Given the description of an element on the screen output the (x, y) to click on. 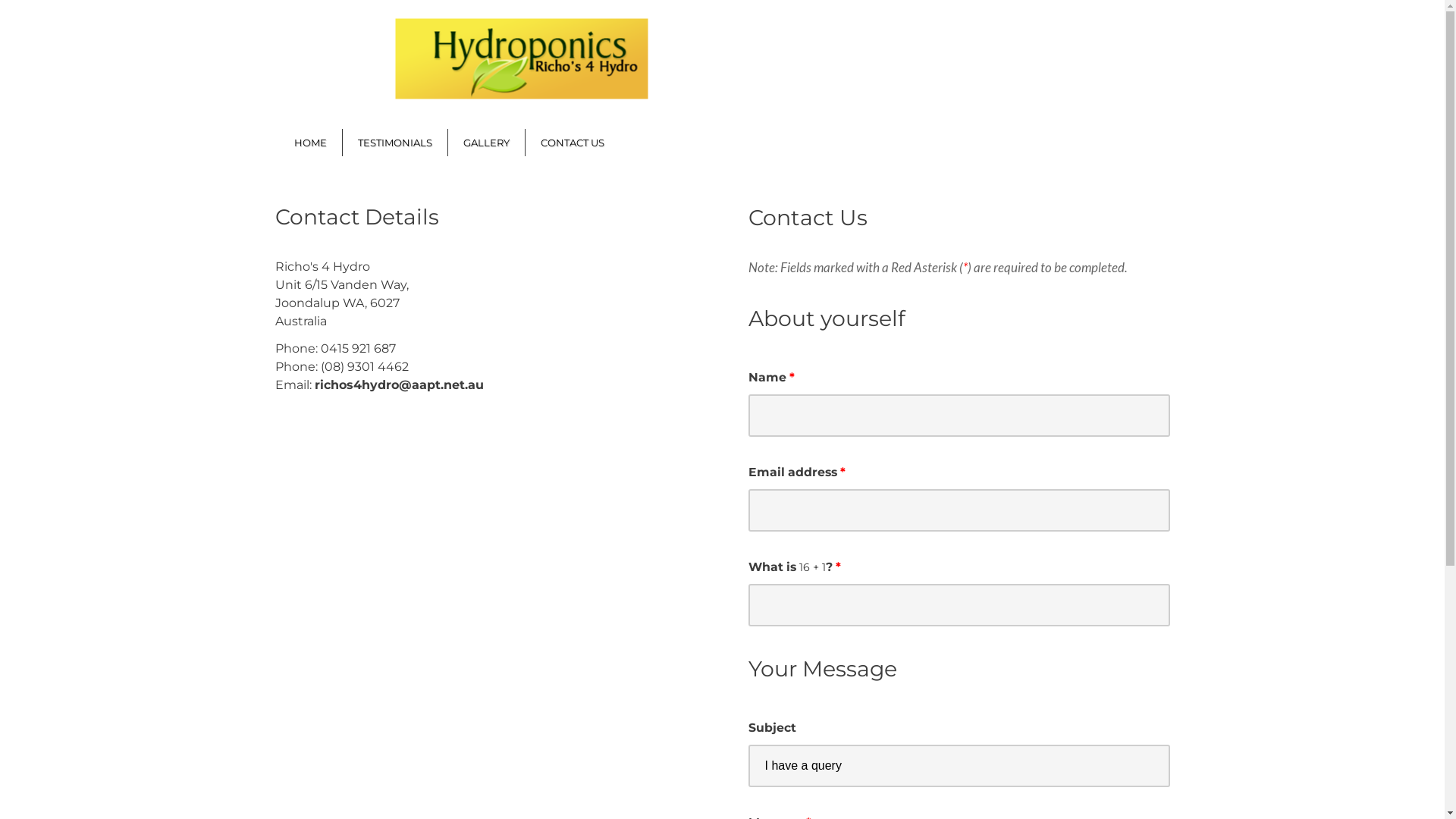
TESTIMONIALS Element type: text (394, 142)
HOME Element type: text (310, 142)
Embedded Google map Element type: hover (425, 563)
CONTACT US Element type: text (571, 142)
richos4hydro@aapt.net.au Element type: text (398, 384)
GALLERY Element type: text (485, 142)
